Given the description of an element on the screen output the (x, y) to click on. 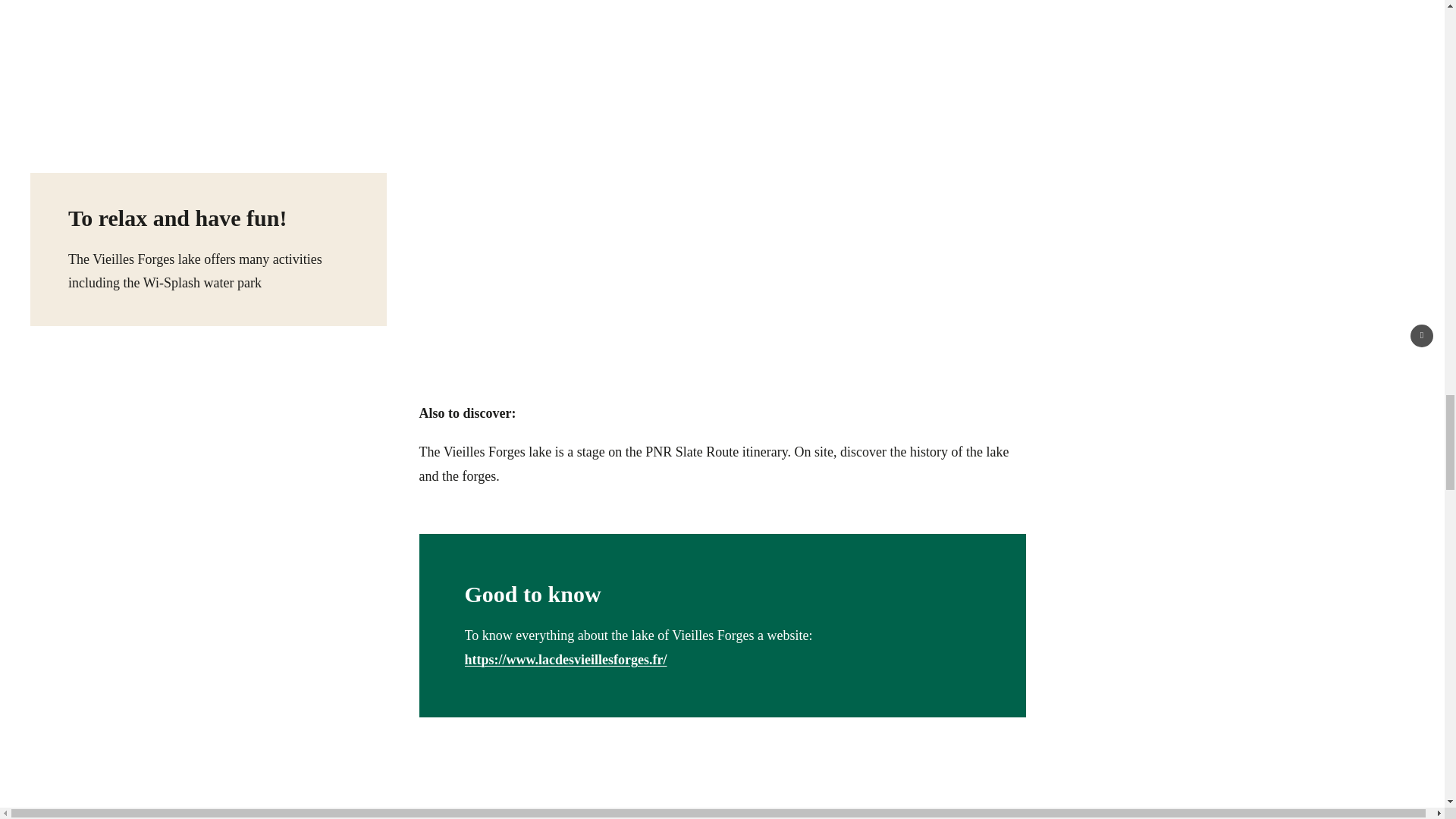
Lac des Vieilles-Forges dans les Ardennes (722, 790)
